Given the description of an element on the screen output the (x, y) to click on. 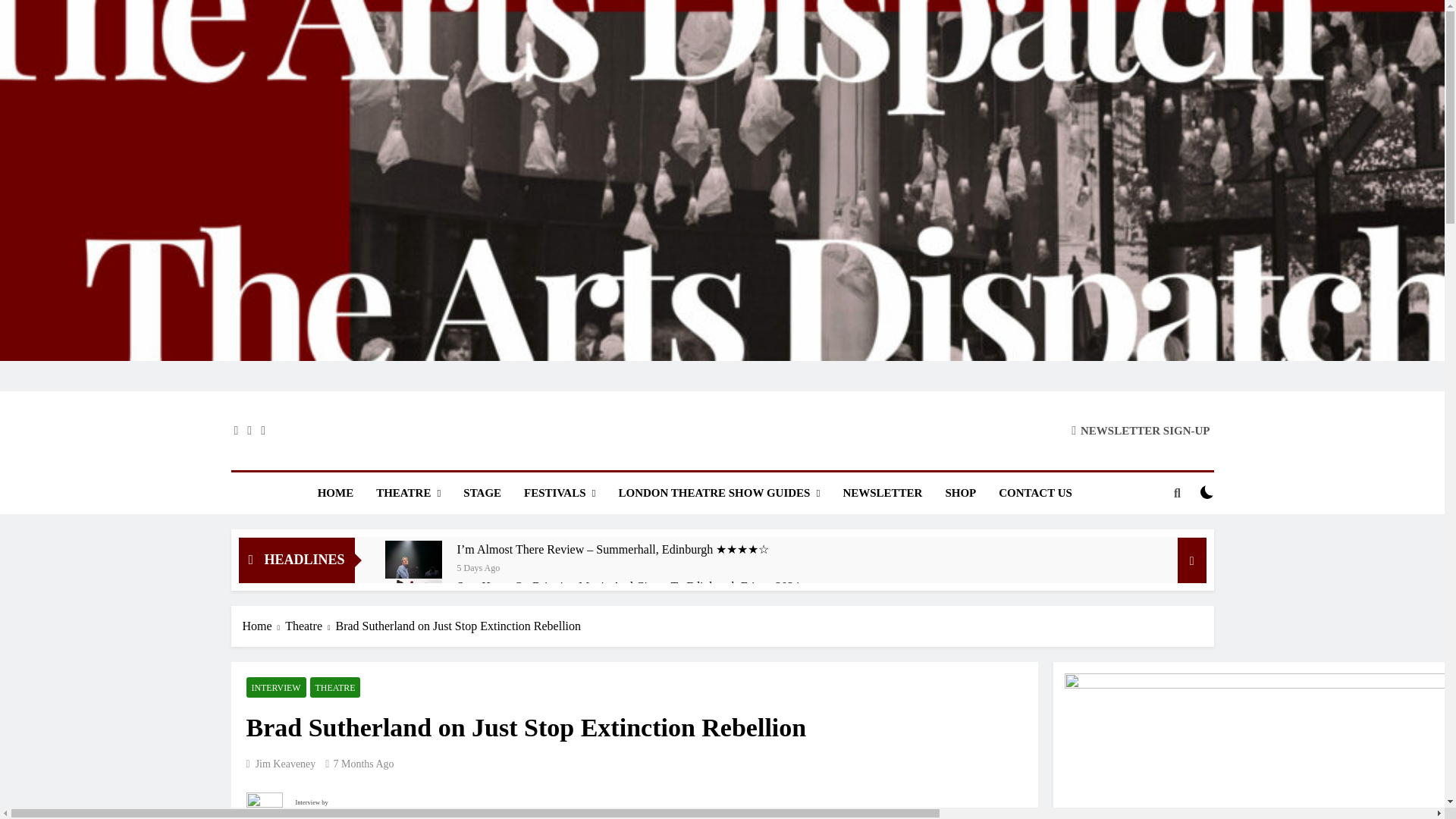
HOME (335, 492)
on (1206, 491)
5 Days Ago (478, 566)
THEATRE (408, 493)
The Arts Dispatch (563, 447)
NEWSLETTER SIGN-UP (1140, 430)
STAGE (481, 492)
CONTACT US (1035, 492)
